Given the description of an element on the screen output the (x, y) to click on. 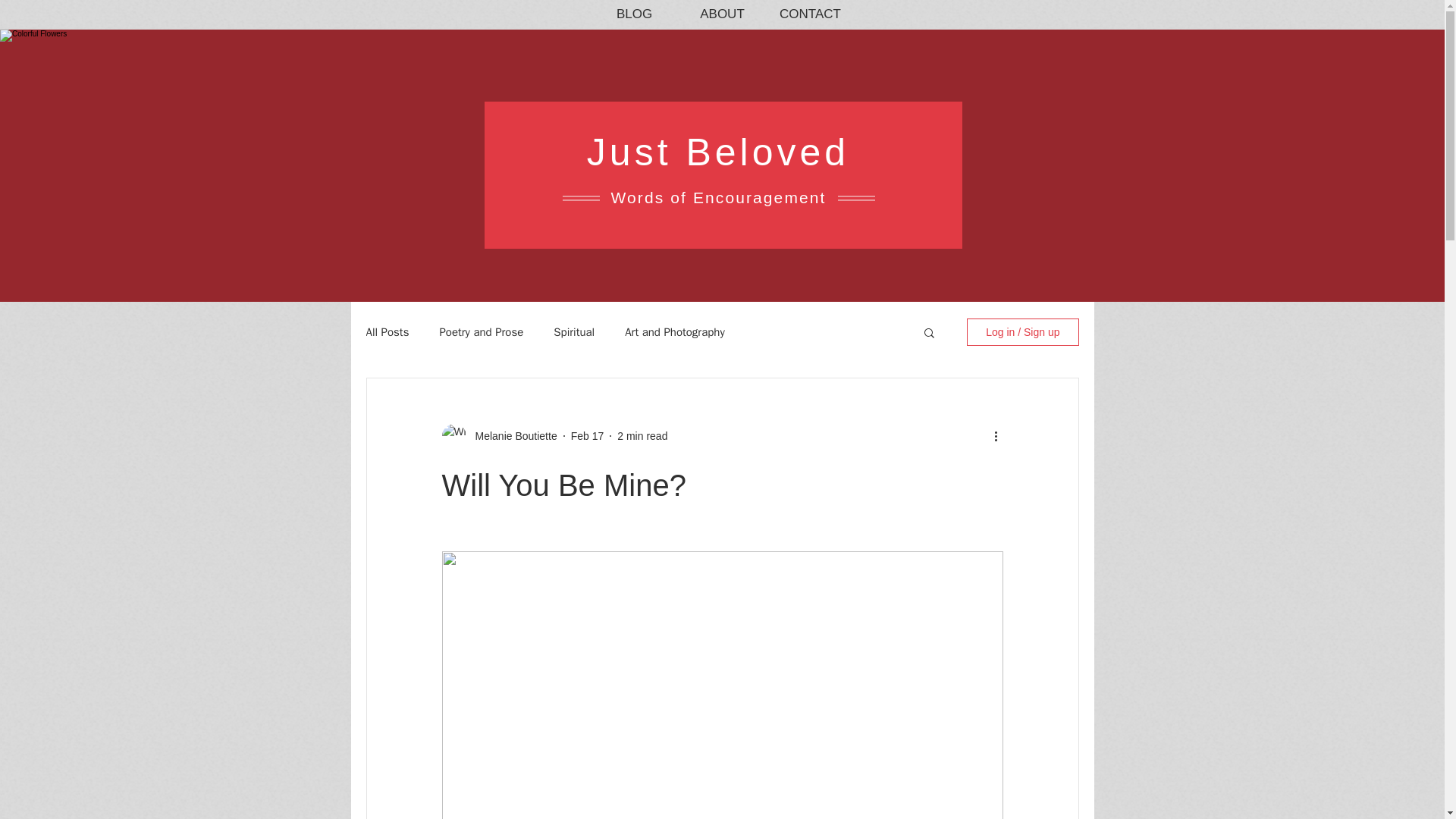
Spiritual (573, 331)
Just Beloved (717, 152)
2 min read (641, 435)
Melanie Boutiette (510, 435)
Words of Encouragement (719, 197)
BLOG (633, 14)
Poetry and Prose (480, 331)
ABOUT (721, 14)
CONTACT (809, 14)
Art and Photography (674, 331)
